Given the description of an element on the screen output the (x, y) to click on. 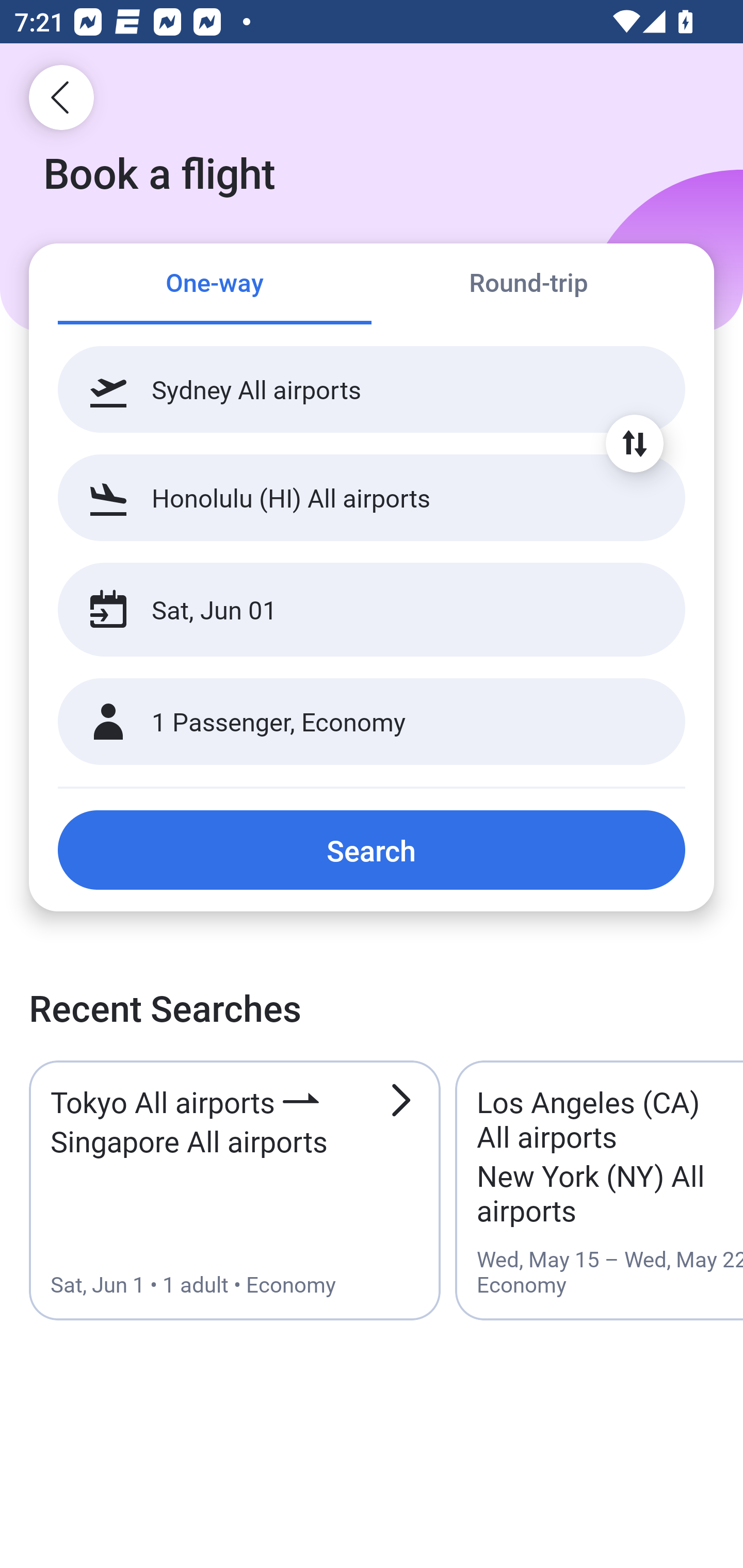
Round-trip (528, 284)
Sydney All airports (371, 389)
Honolulu (HI) All airports (371, 497)
Sat, Jun 01 (349, 609)
1 Passenger, Economy (371, 721)
Search (371, 849)
